Given the description of an element on the screen output the (x, y) to click on. 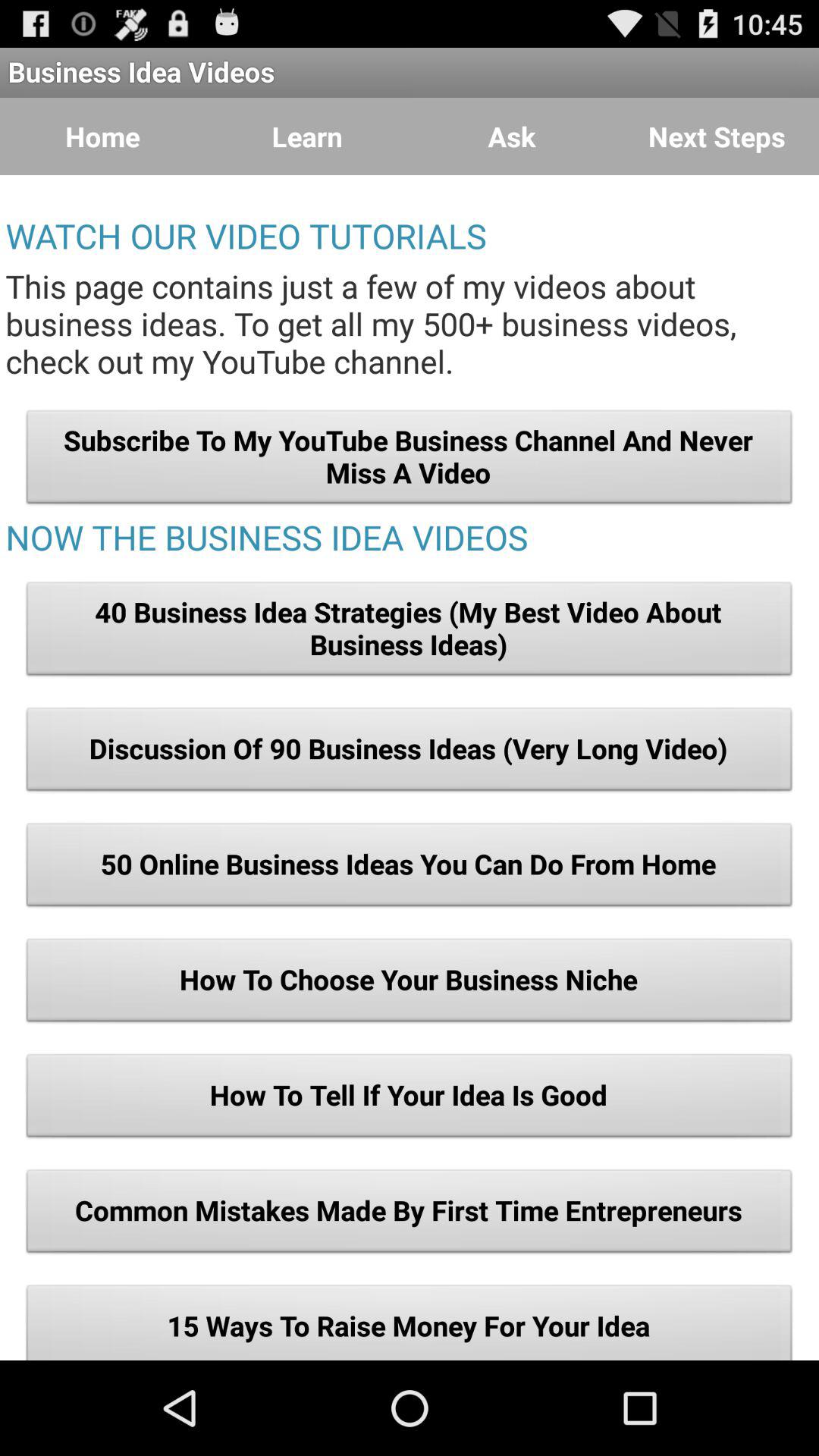
press button to the left of the ask button (306, 136)
